Given the description of an element on the screen output the (x, y) to click on. 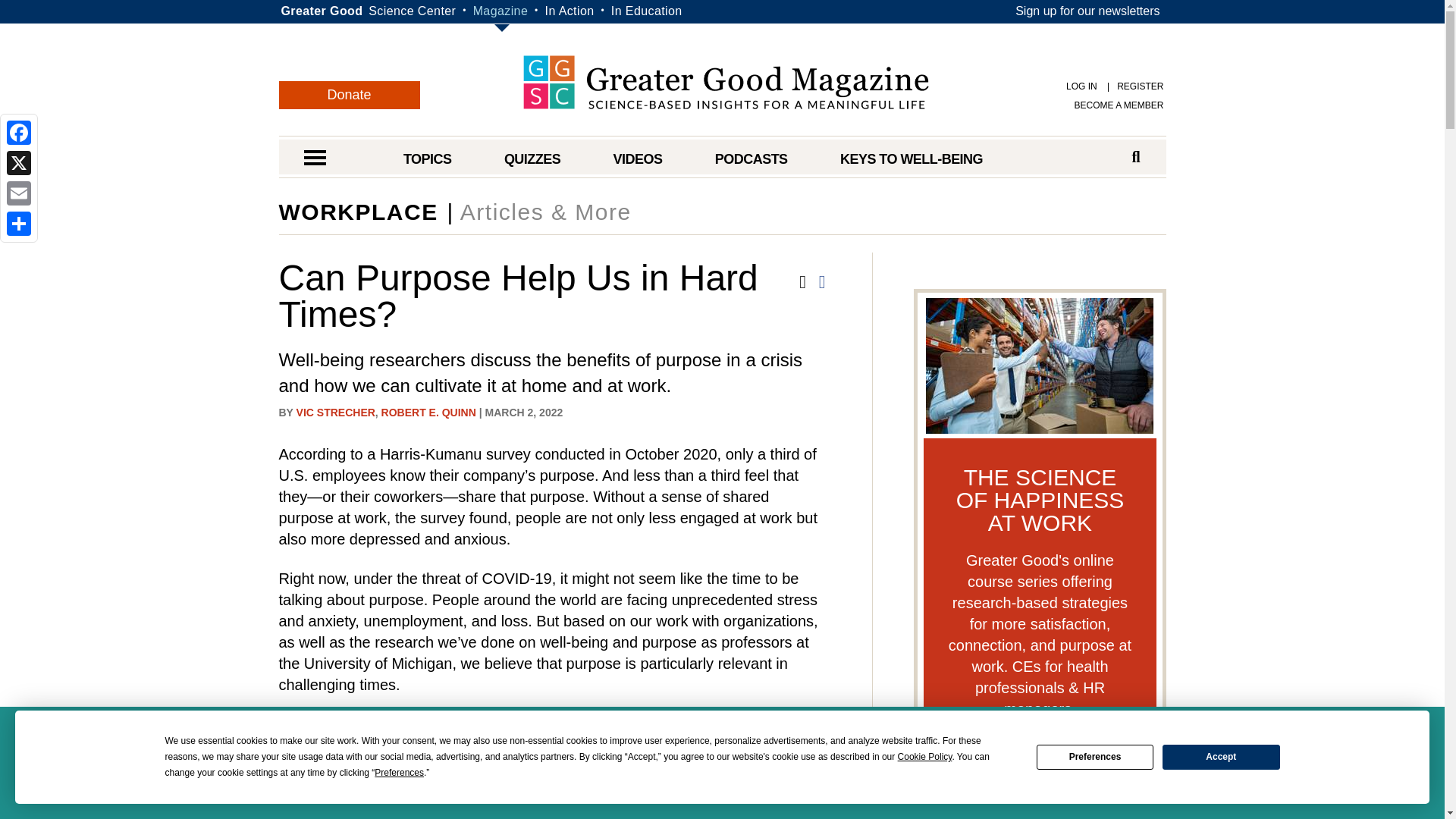
In Action (569, 10)
Donate (349, 94)
Accept (1220, 757)
The Science of Happiness at Work (1039, 364)
Magazine (500, 10)
In Education (646, 10)
LOG IN (1081, 86)
Greater Good In Education (646, 10)
Greater Good In Action (569, 10)
Greater Good Magazine (725, 81)
TOPICS (427, 158)
Greater Good Science Center (411, 10)
Sign up for our newsletters (1086, 11)
The Science of Happiness at Work (1039, 768)
Science Center (411, 10)
